Given the description of an element on the screen output the (x, y) to click on. 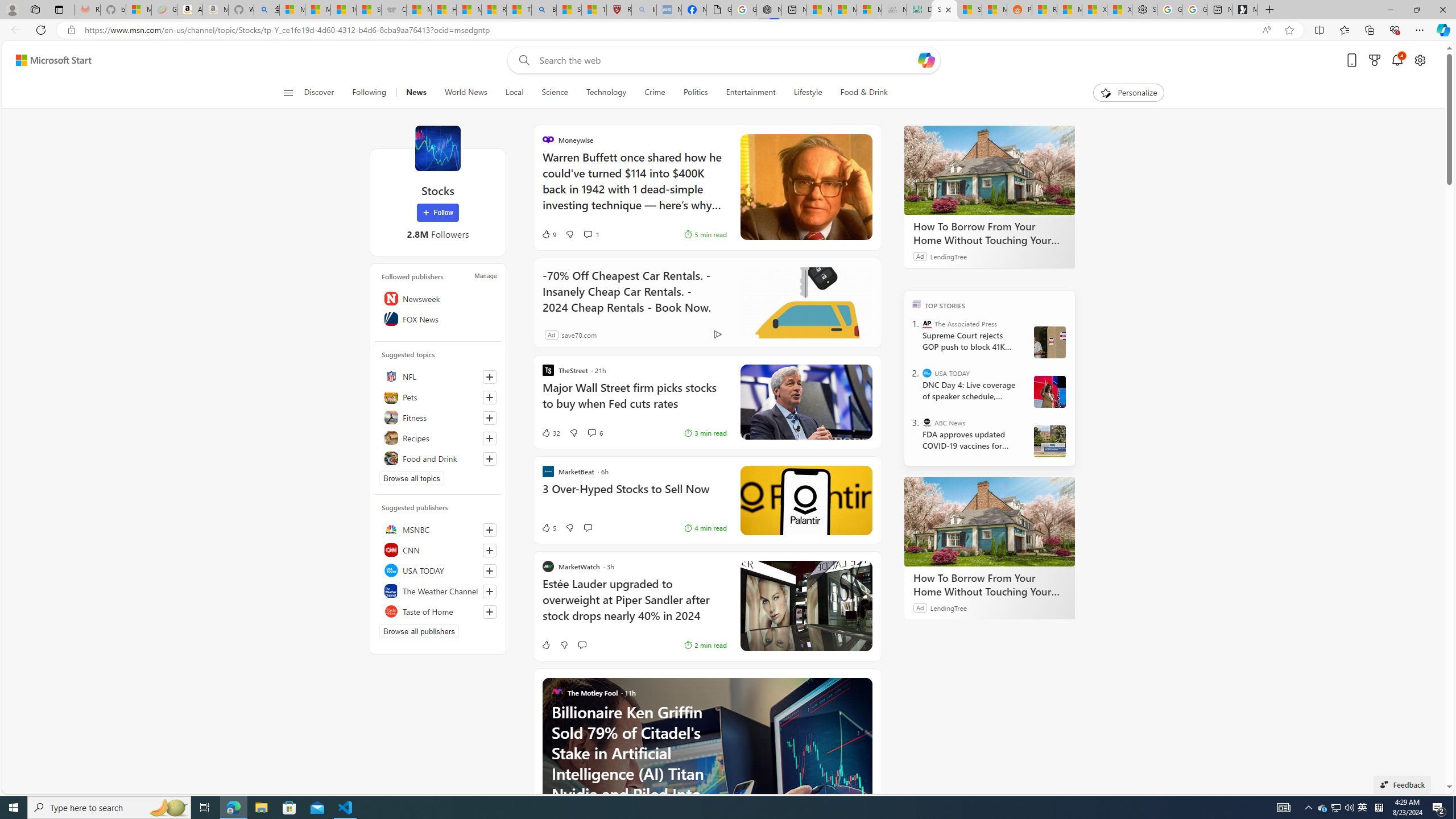
Local (514, 92)
Recipes (437, 437)
View comments 6 Comment (594, 432)
Feedback (1402, 784)
Pets (437, 397)
To get missing image descriptions, open the context menu. (1105, 92)
Personalize (1128, 92)
Open navigation menu (287, 92)
5 Like (547, 527)
Warren Buffett shares dead-simple investing lesson (805, 187)
